Given the description of an element on the screen output the (x, y) to click on. 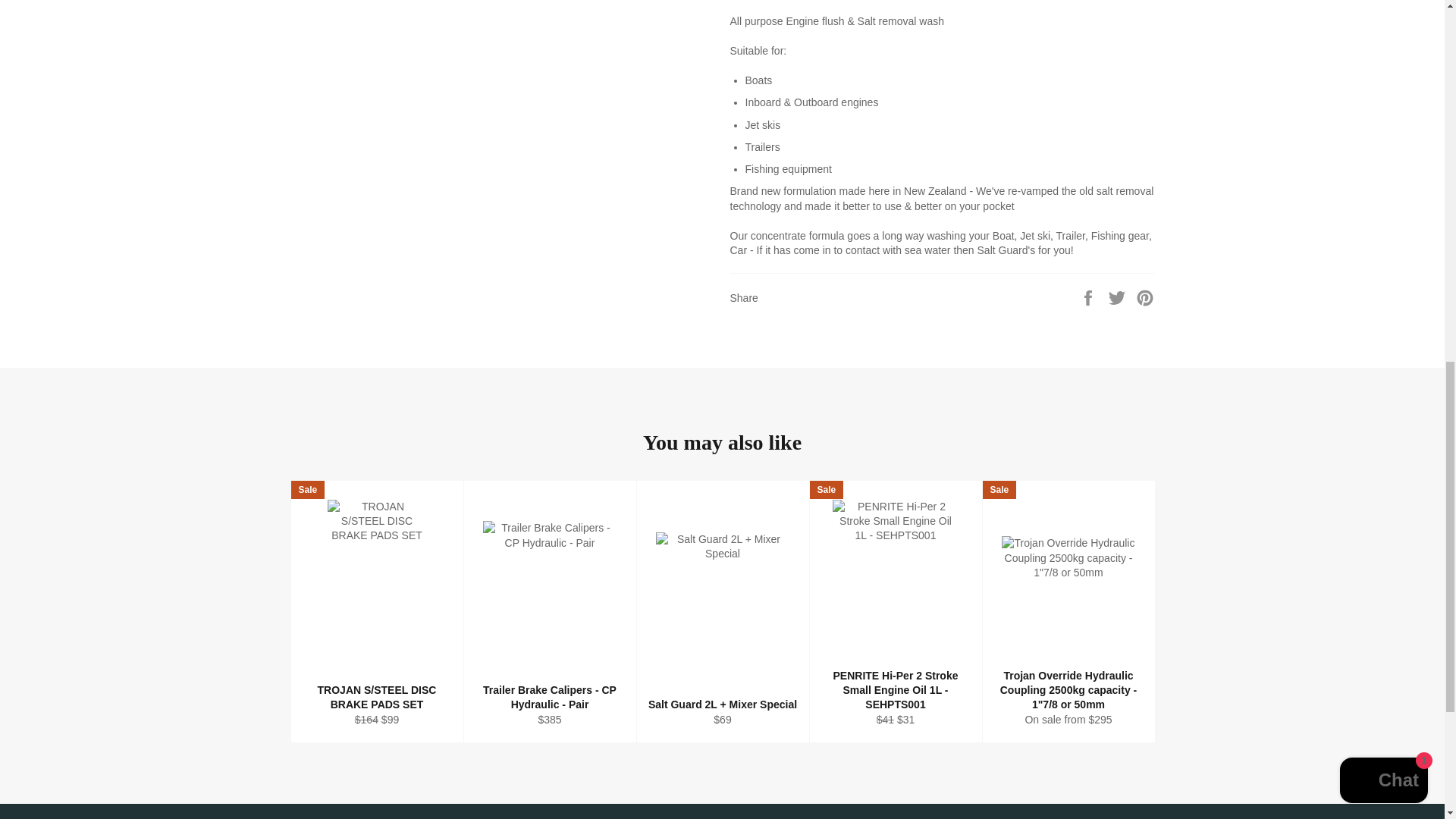
Tweet on Twitter (1118, 297)
Share on Facebook (1089, 297)
Pin on Pinterest (1144, 297)
